Given the description of an element on the screen output the (x, y) to click on. 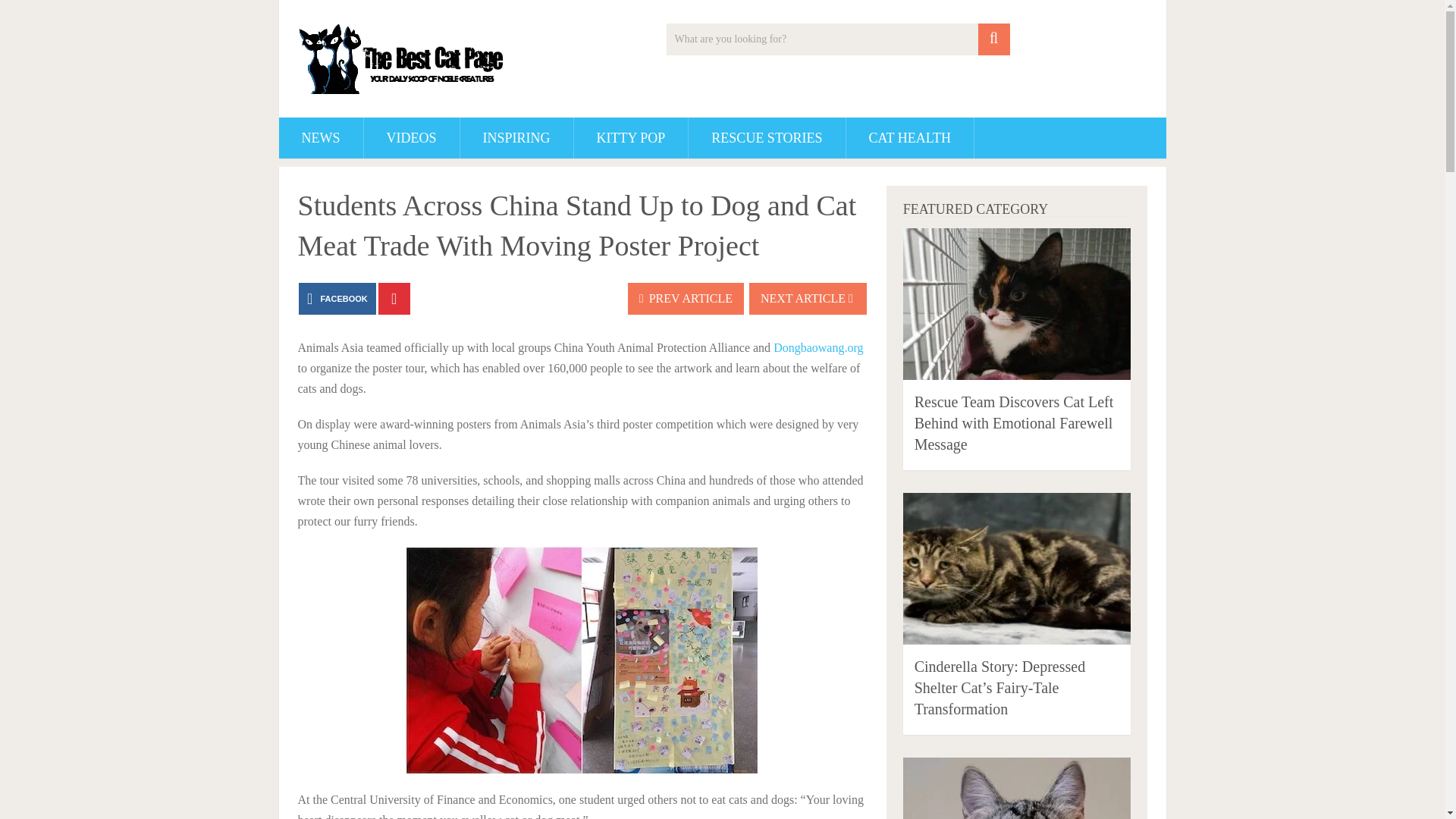
FACEBOOK (336, 298)
NEXT ARTICLE (807, 298)
RESCUE STORIES (766, 137)
CAT HEALTH (909, 137)
PREV ARTICLE (685, 298)
INSPIRING (516, 137)
Dongbaowang.org (818, 347)
KITTY POP (630, 137)
NEWS (320, 137)
VIDEOS (412, 137)
